Given the description of an element on the screen output the (x, y) to click on. 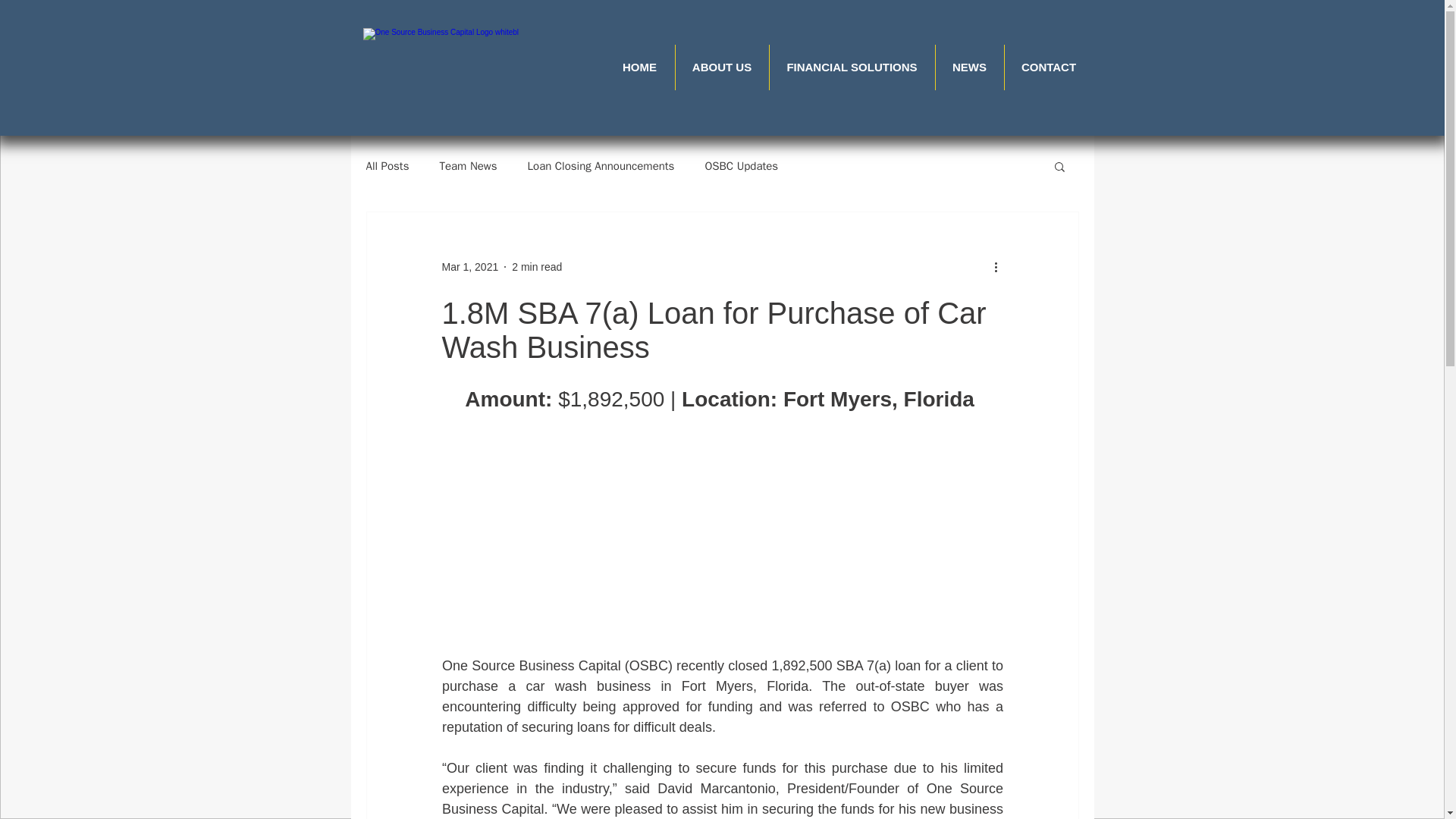
CONTACT (1048, 67)
Mar 1, 2021 (469, 266)
ABOUT US (721, 67)
2 min read (537, 266)
FINANCIAL SOLUTIONS (851, 67)
NEWS (970, 67)
Team News (467, 165)
All Posts (387, 165)
HOME (640, 67)
OSBC Updates (740, 165)
Loan Closing Announcements (601, 165)
